Given the description of an element on the screen output the (x, y) to click on. 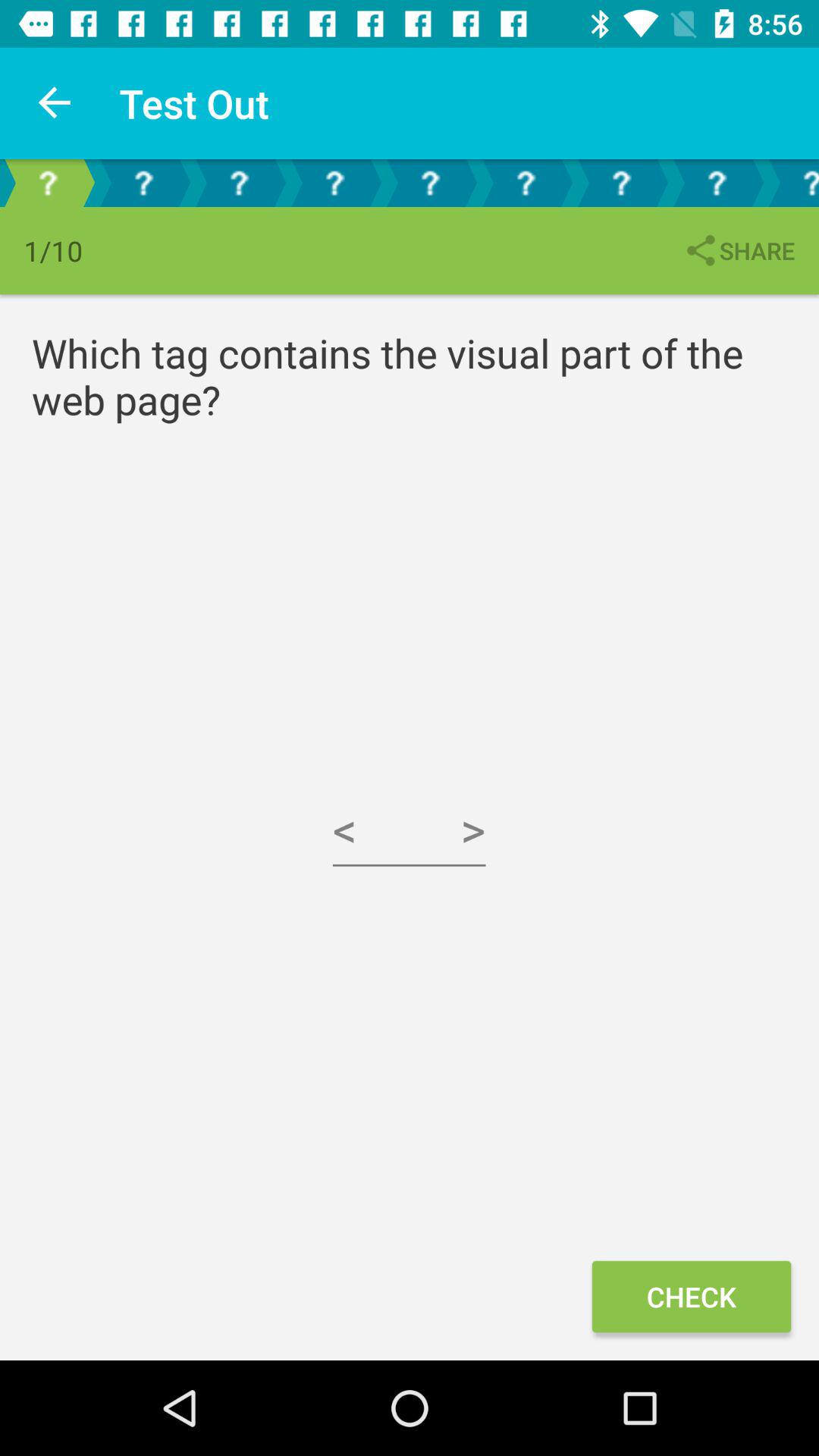
web content (238, 183)
